Given the description of an element on the screen output the (x, y) to click on. 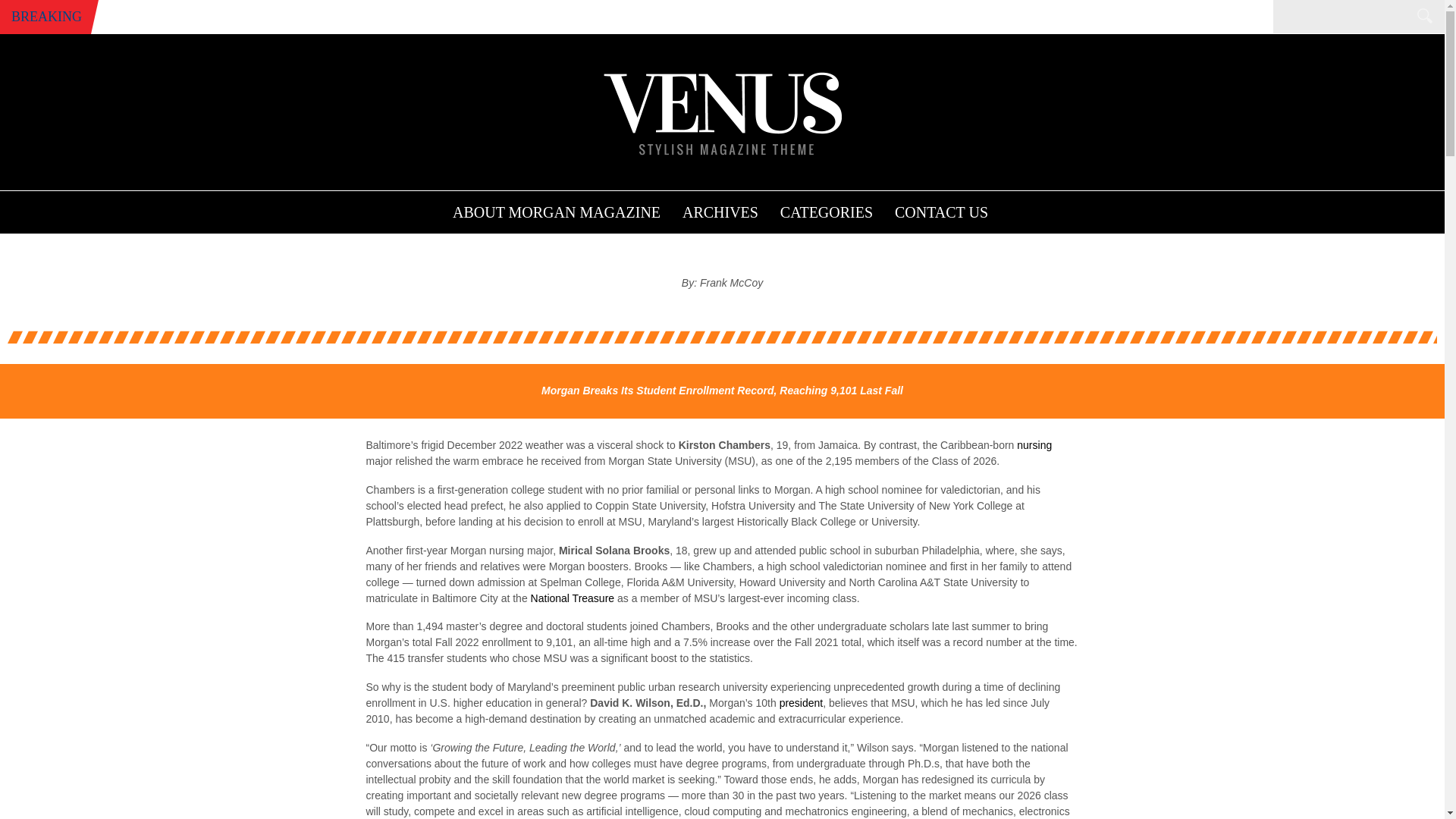
ARCHIVES (720, 209)
nursing (1033, 444)
CONTACT US (940, 209)
Volume 2023 (725, 207)
president (801, 702)
National Treasure (572, 598)
Search... (1349, 17)
CATEGORIES (825, 209)
General (673, 207)
ABOUT MORGAN MAGAZINE (556, 209)
